Given the description of an element on the screen output the (x, y) to click on. 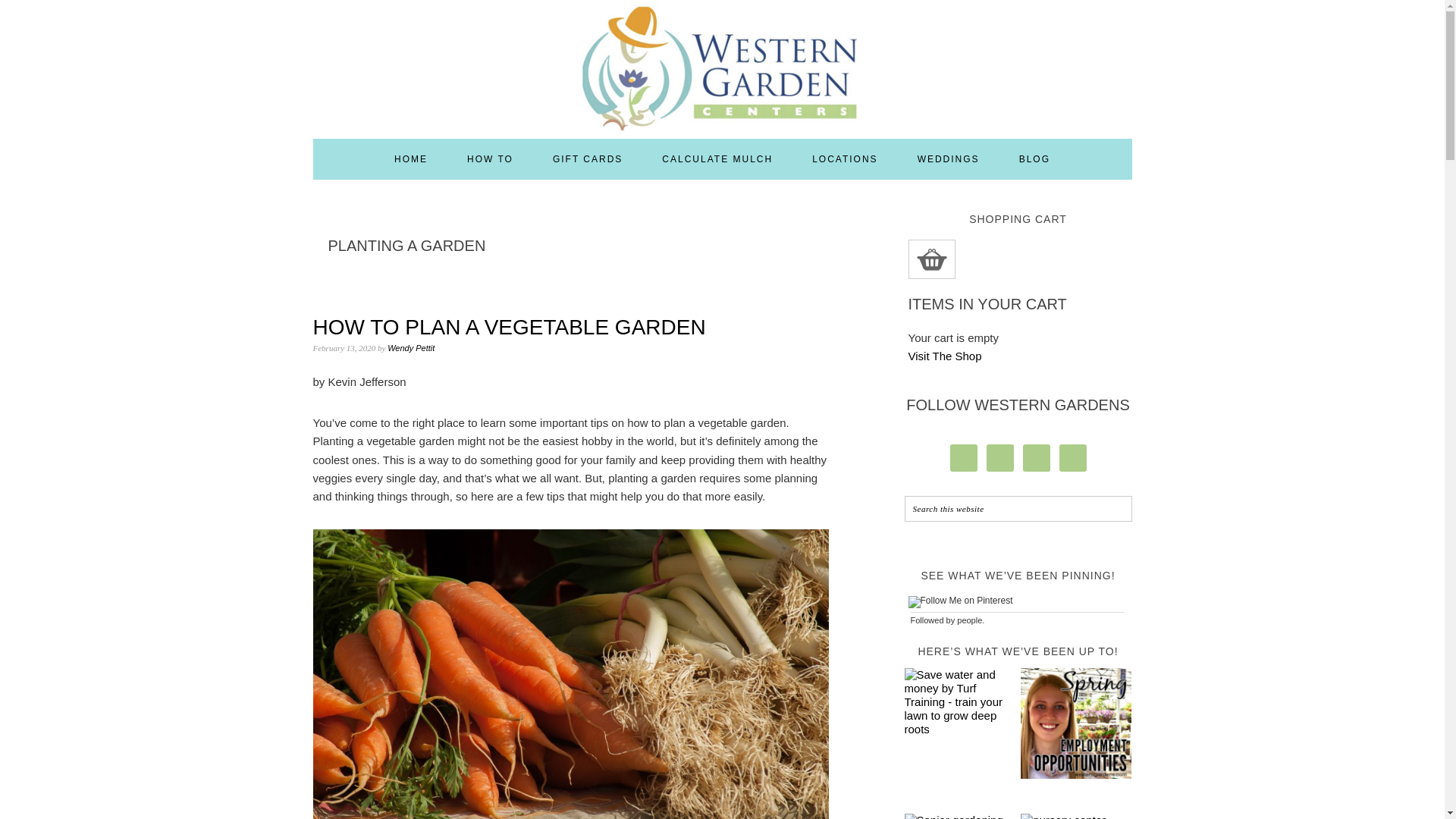
GARDEN CENTER IS NOW OPEN! (1075, 816)
Wendy Pettit (410, 347)
Save Water, Save Money with Turf Training in 2022 (959, 702)
Shopping Cart (931, 259)
WEDDINGS (948, 158)
HOW TO (490, 158)
LOCATIONS (844, 158)
Shopping Cart (931, 259)
WESTERN GARDEN CENTERS (722, 61)
Visit The Shop (944, 355)
CALCULATE MULCH (717, 158)
utah spring jobs at Western Gardens (1075, 725)
